Given the description of an element on the screen output the (x, y) to click on. 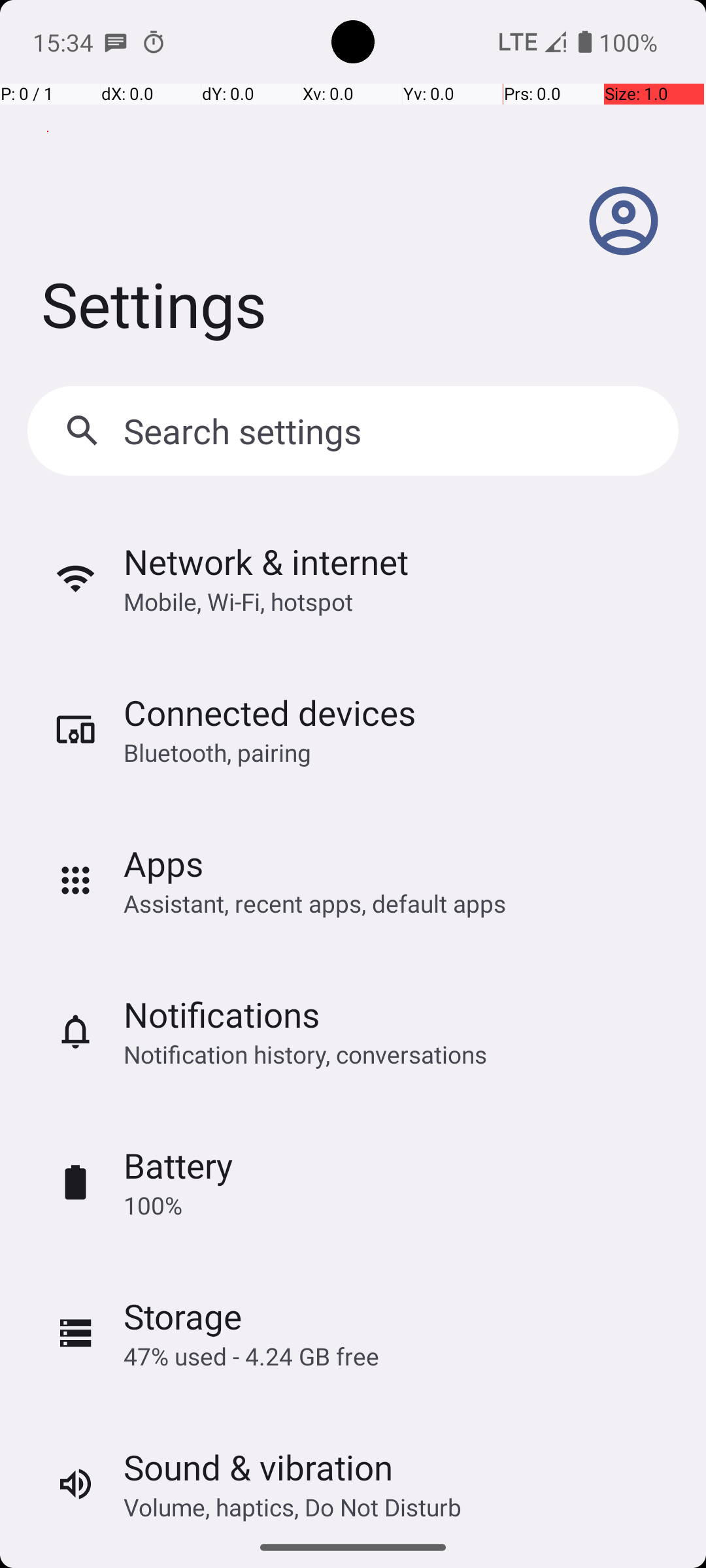
47% used - 4.24 GB free Element type: android.widget.TextView (251, 1355)
